Given the description of an element on the screen output the (x, y) to click on. 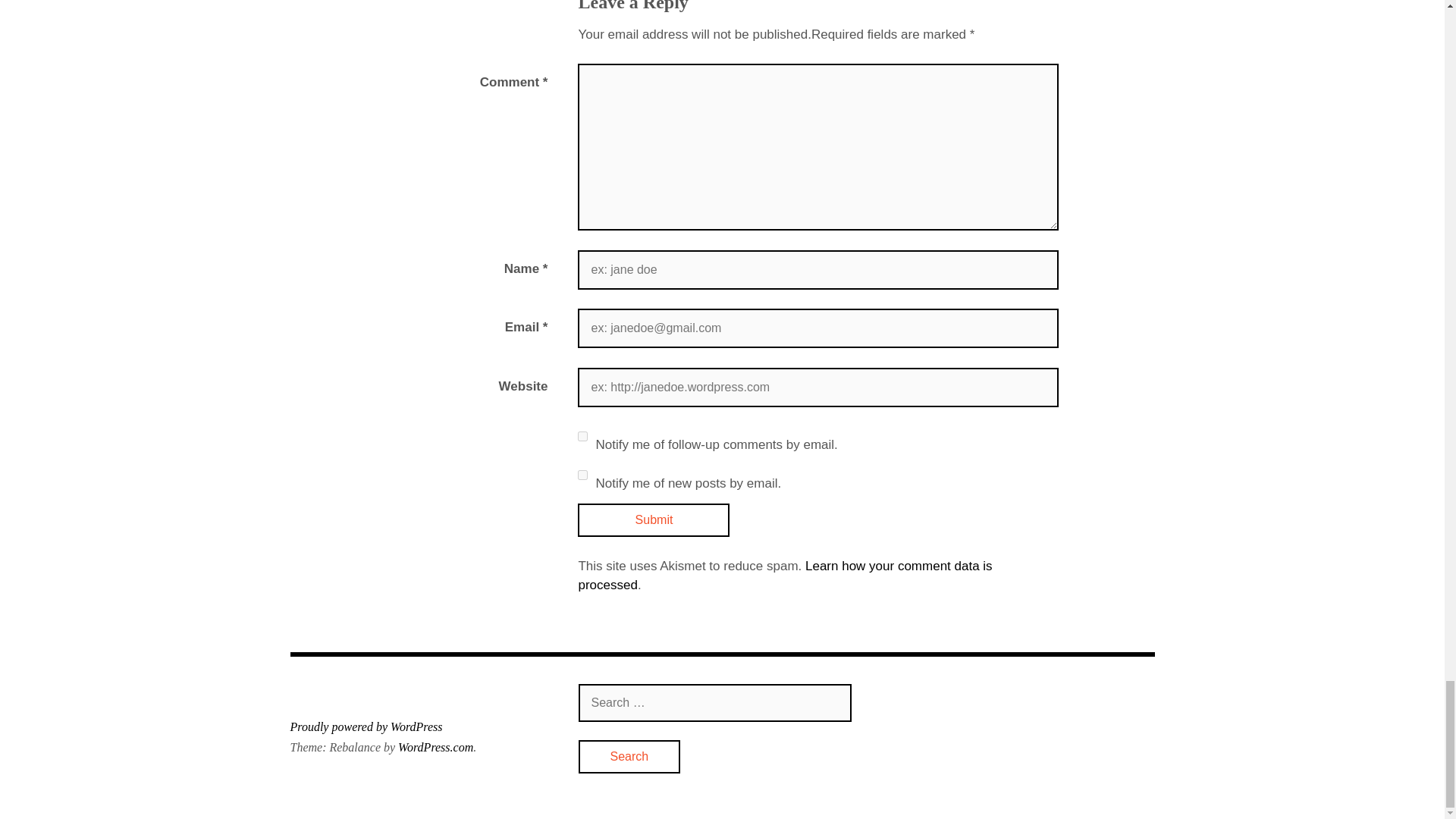
subscribe (583, 436)
Submit (653, 520)
Learn how your comment data is processed (784, 575)
Search (629, 756)
Search (629, 756)
subscribe (583, 474)
Search (629, 756)
Submit (653, 520)
